Given the description of an element on the screen output the (x, y) to click on. 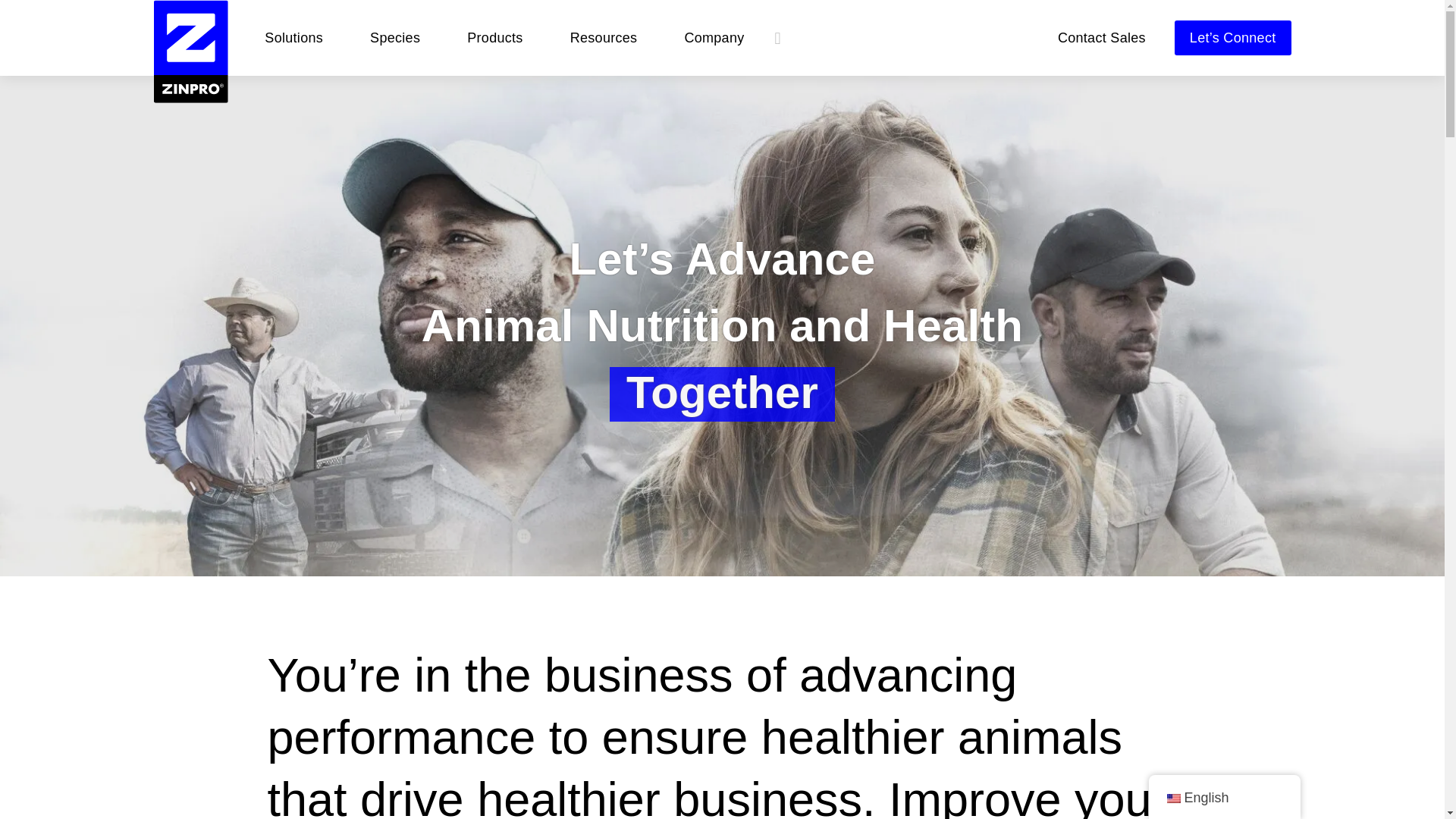
Species (395, 38)
Solutions (293, 38)
